Given the description of an element on the screen output the (x, y) to click on. 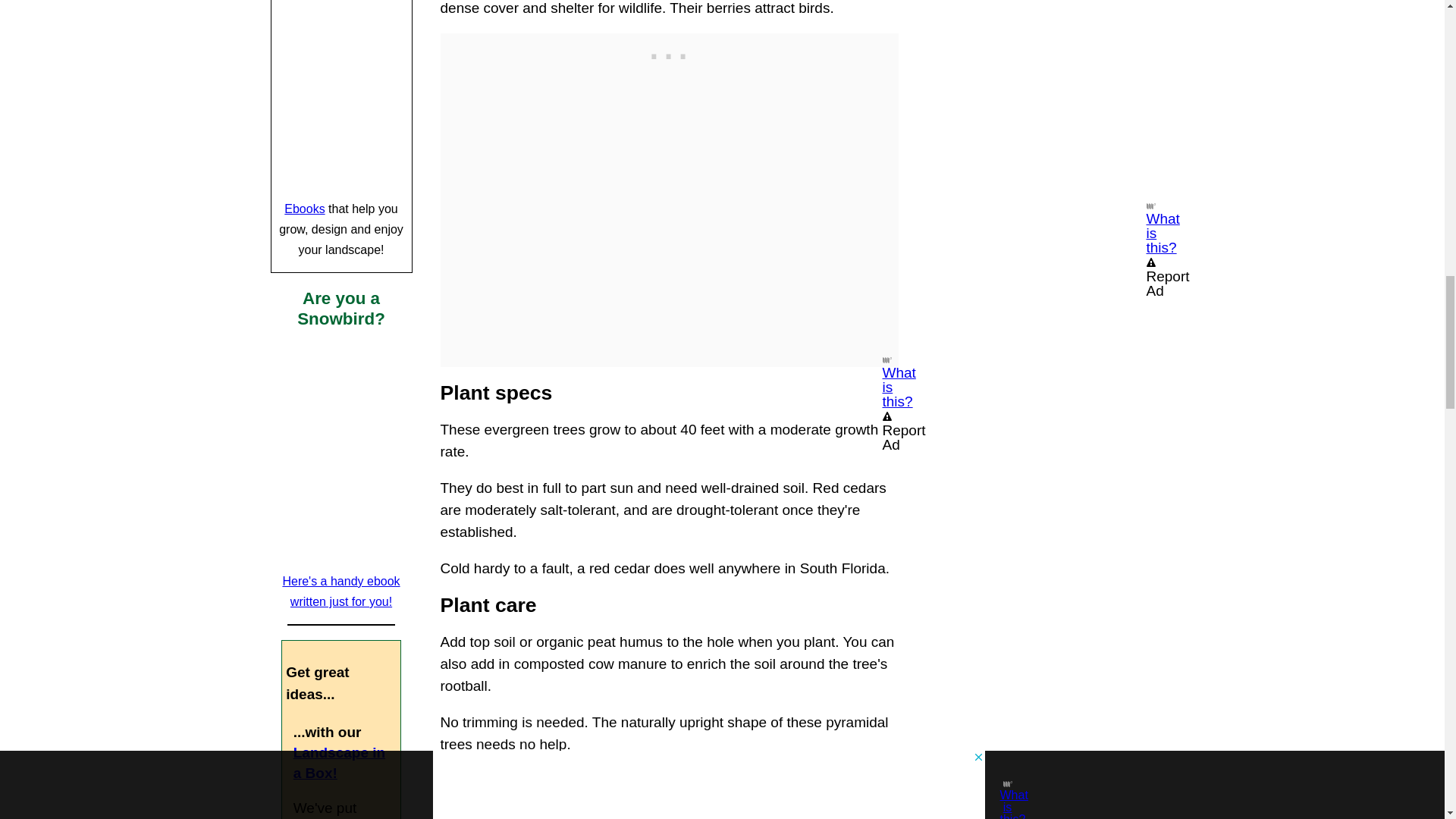
3rd party ad content (668, 52)
